Given the description of an element on the screen output the (x, y) to click on. 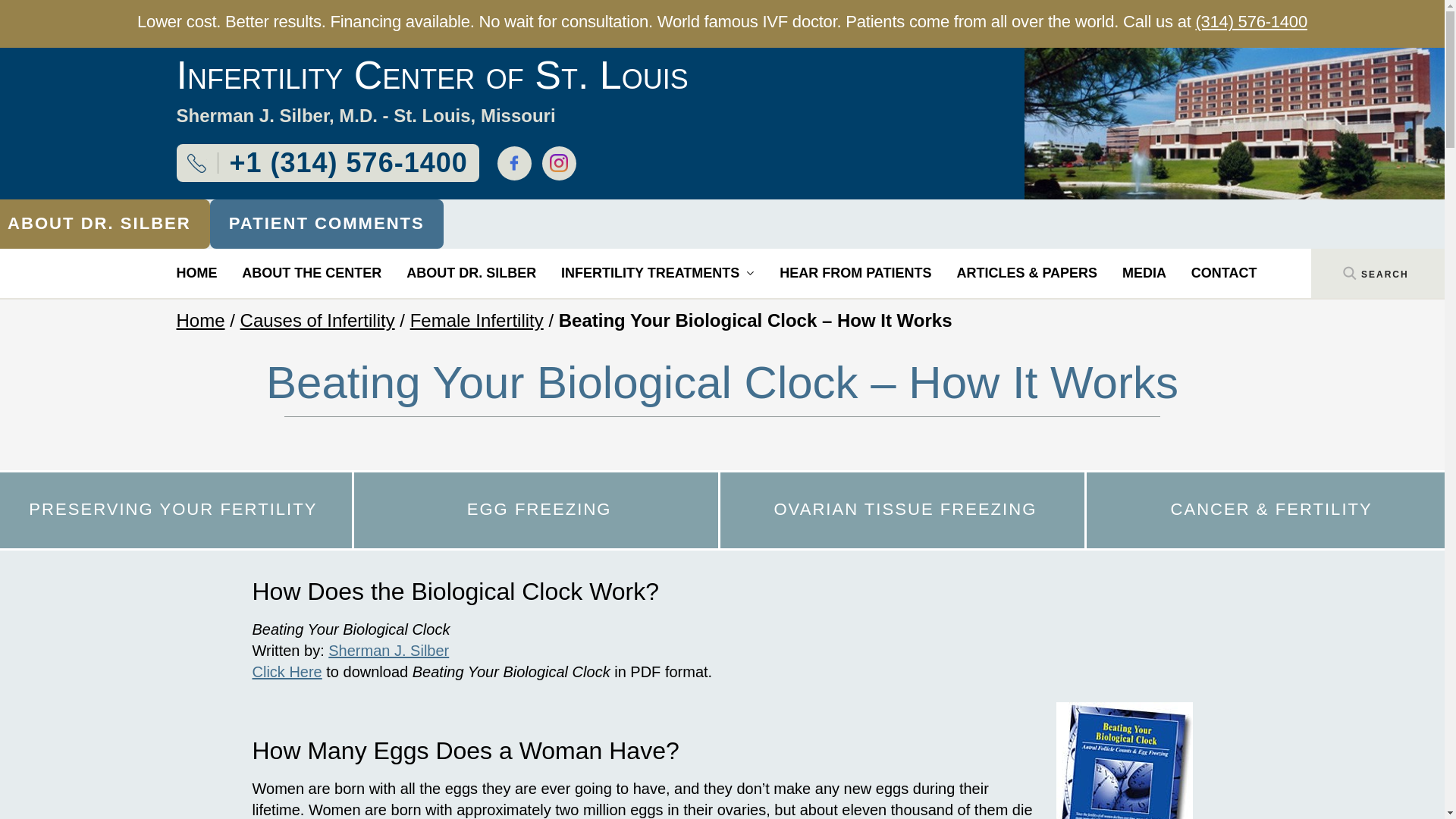
ABOUT THE CENTER (311, 273)
PATIENT COMMENTS (326, 223)
INFERTILITY TREATMENTS (657, 273)
ABOUT DR. SILBER (470, 273)
ABOUT DR. SILBER (104, 223)
